Given the description of an element on the screen output the (x, y) to click on. 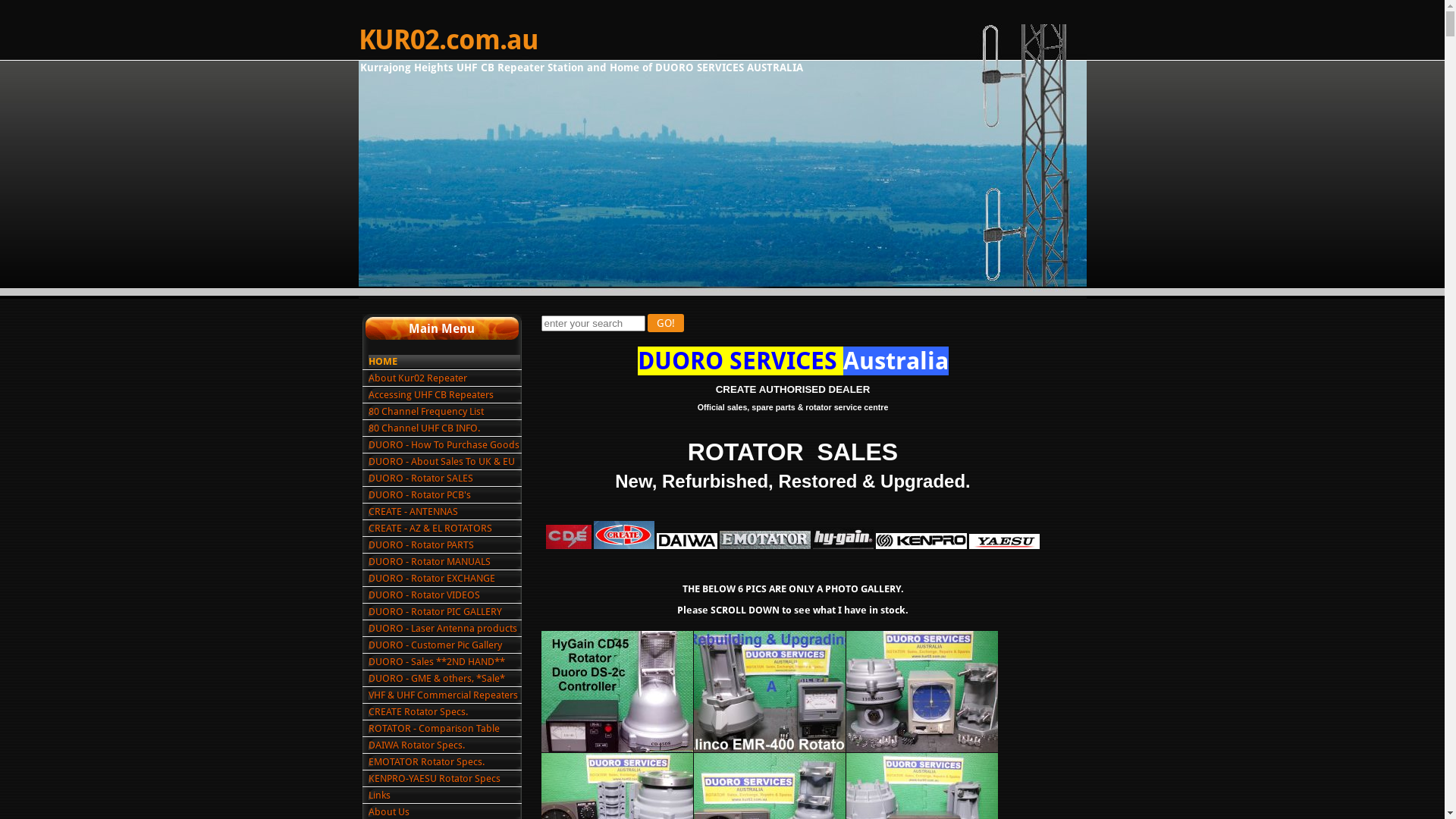
DUORO - How To Purchase Goods Element type: text (444, 444)
80 Channel UHF CB INFO. Element type: text (444, 427)
KENPRO-YAESU Rotator Specs Element type: text (444, 777)
You are viewing the image with filename 2023-02-016.jpg Element type: hover (921, 691)
DUORO - Rotator VIDEOS Element type: text (444, 594)
HOME Element type: text (444, 360)
DUORO - Rotator PIC GALLERY Element type: text (444, 611)
DUORO - Rotator EXCHANGE Element type: text (444, 577)
VHF & UHF Commercial Repeaters Element type: text (444, 694)
Emotator Element type: hover (764, 539)
DUORO - Rotator PARTS Element type: text (444, 544)
You are viewing the image with filename 2022-04-c001a.jpg Element type: hover (617, 691)
DUORO - Rotator SALES Element type: text (444, 477)
DUORO - Rotator MANUALS Element type: text (444, 561)
EMOTATOR Rotator Specs. Element type: text (444, 761)
DUORO - Customer Pic Gallery Element type: text (444, 644)
Accessing UHF CB Repeaters Element type: text (444, 394)
About Us Element type: text (444, 811)
Links Element type: text (444, 794)
DUORO - Rotator PCB's Element type: text (444, 494)
CDE Element type: hover (568, 536)
80 Channel Frequency List Element type: text (444, 410)
DAIWA Rotator Specs. Element type: text (444, 744)
DUORO - Sales **2ND HAND** Element type: text (444, 661)
Daiwa Element type: hover (686, 541)
You are viewing the image with filename 2022-09-A02b.jpg Element type: hover (768, 691)
Hy-Gain Element type: hover (842, 538)
DUORO - About Sales To UK & EU Element type: text (444, 461)
Create Element type: hover (623, 534)
Kenpro Element type: hover (920, 541)
About Kur02 Repeater Element type: text (444, 377)
GO! Element type: text (665, 322)
CREATE - AZ & EL ROTATORS Element type: text (444, 527)
CREATE - ANTENNAS Element type: text (444, 511)
DUORO - GME & others, *Sale* Element type: text (444, 677)
DUORO - Laser Antenna products Element type: text (444, 627)
KUR02.com.au Element type: text (447, 40)
ROTATOR - Comparison Table Element type: text (444, 727)
CREATE Rotator Specs. Element type: text (444, 711)
